Given the description of an element on the screen output the (x, y) to click on. 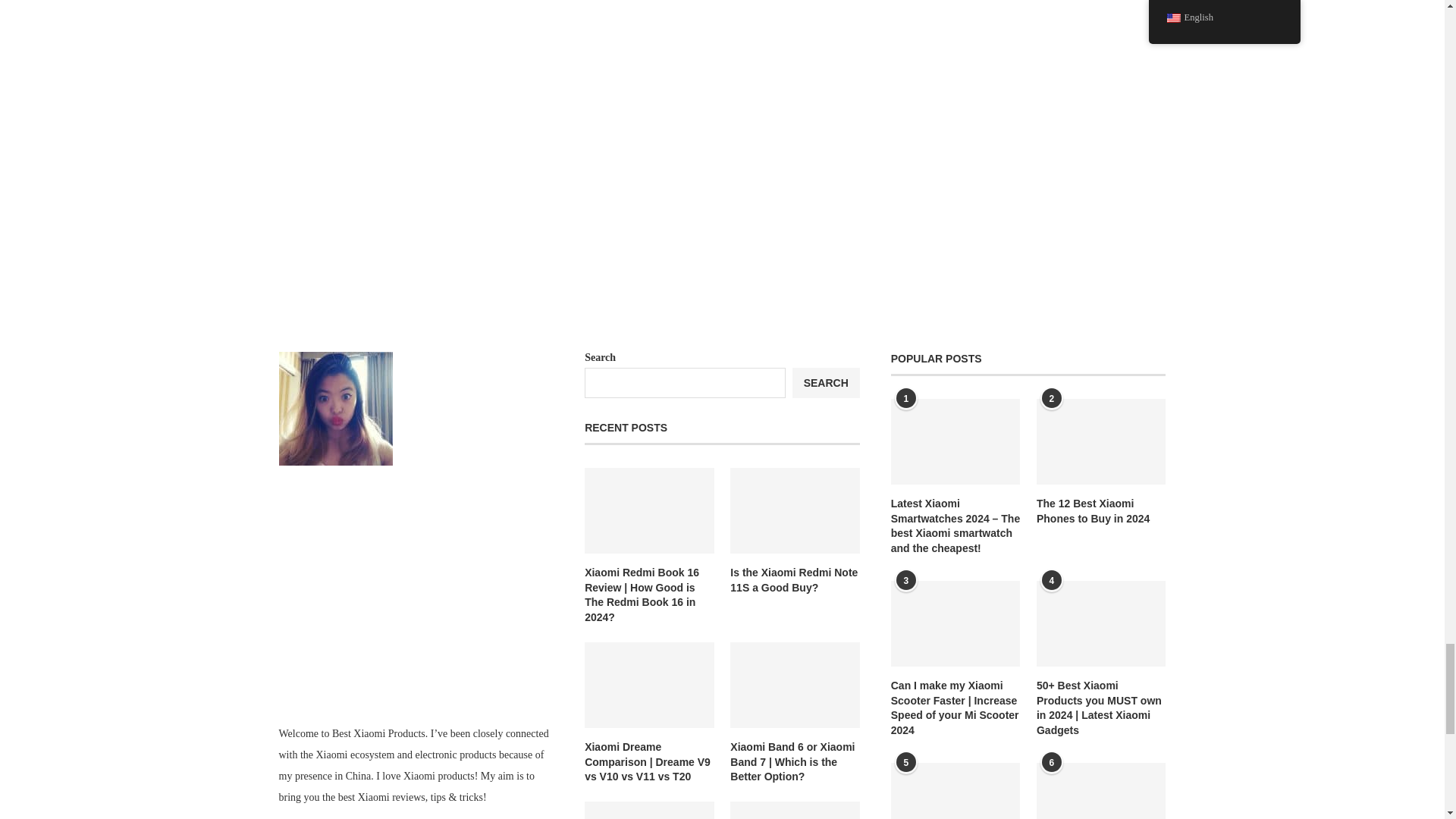
Is the Xiaomi Redmi Note 11S a Good Buy? (794, 580)
Is the Xiaomi Redmi Note 11S a Good Buy? (794, 580)
SEARCH (826, 382)
Is the Xiaomi Redmi Note 11S a Good Buy? (794, 510)
